Given the description of an element on the screen output the (x, y) to click on. 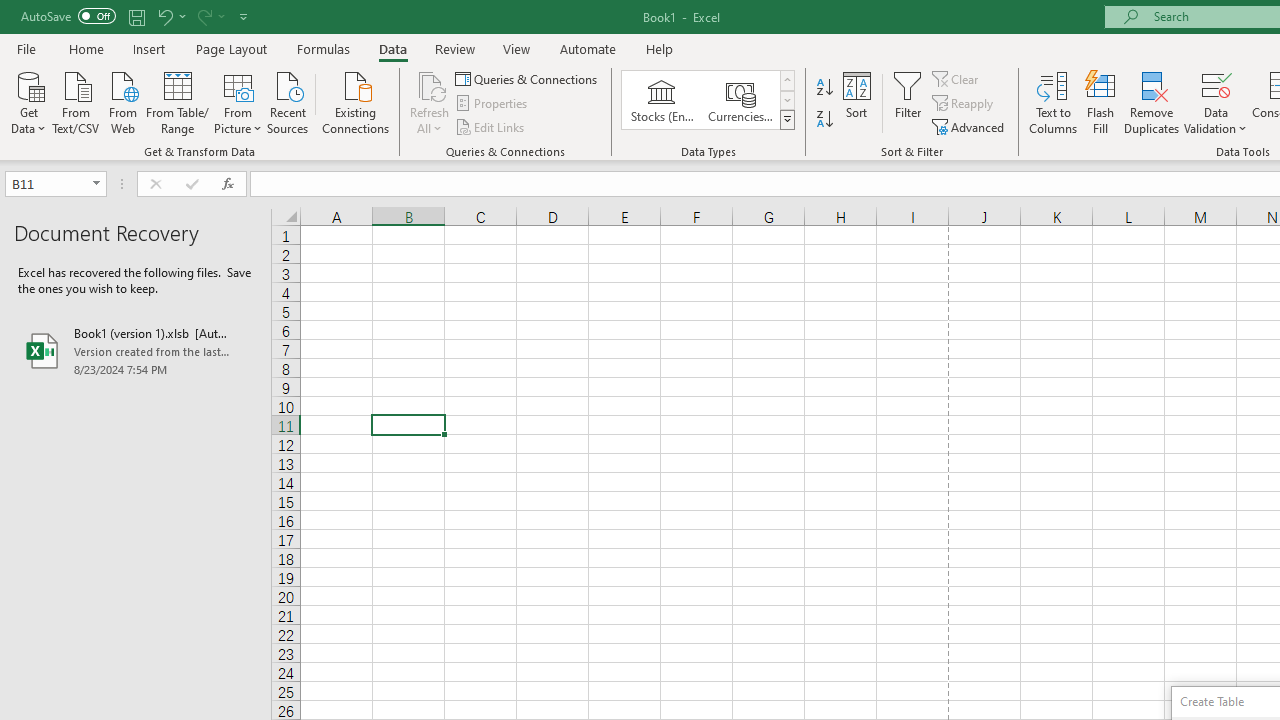
Queries & Connections (527, 78)
Refresh All (429, 102)
AutoSave (68, 16)
Automate (588, 48)
Existing Connections (355, 101)
Edit Links (491, 126)
Flash Fill (1101, 102)
Data Validation... (1215, 102)
Refresh All (429, 84)
Filter (908, 102)
